Given the description of an element on the screen output the (x, y) to click on. 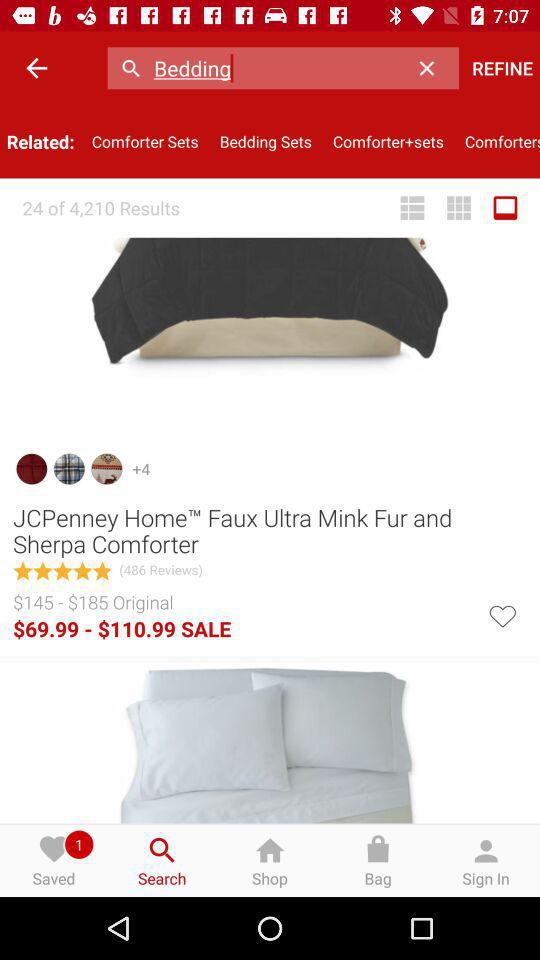
tap the item next to comforter sets item (265, 141)
